Given the description of an element on the screen output the (x, y) to click on. 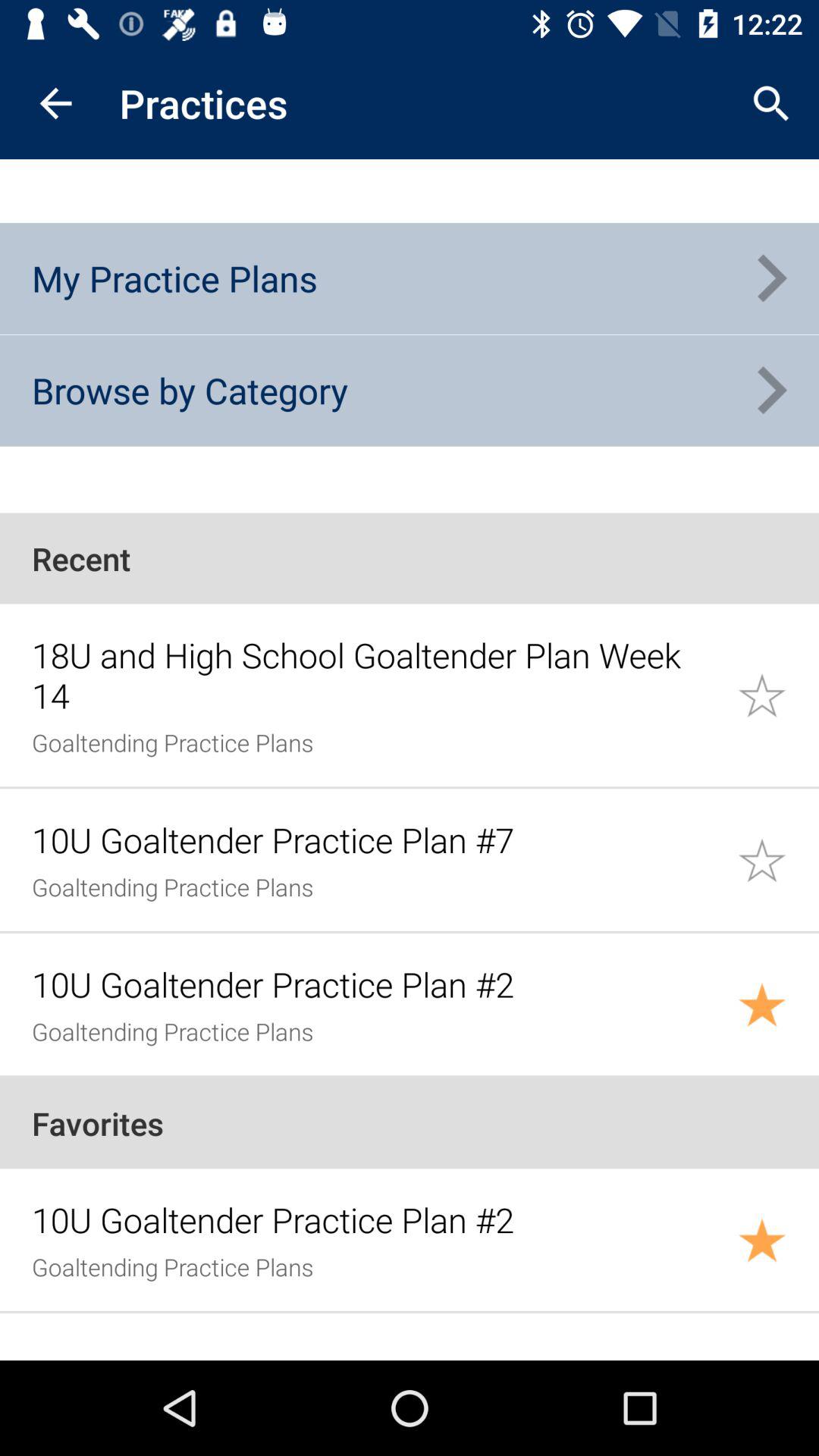
turn on icon to the right of my practice plans item (771, 278)
